Given the description of an element on the screen output the (x, y) to click on. 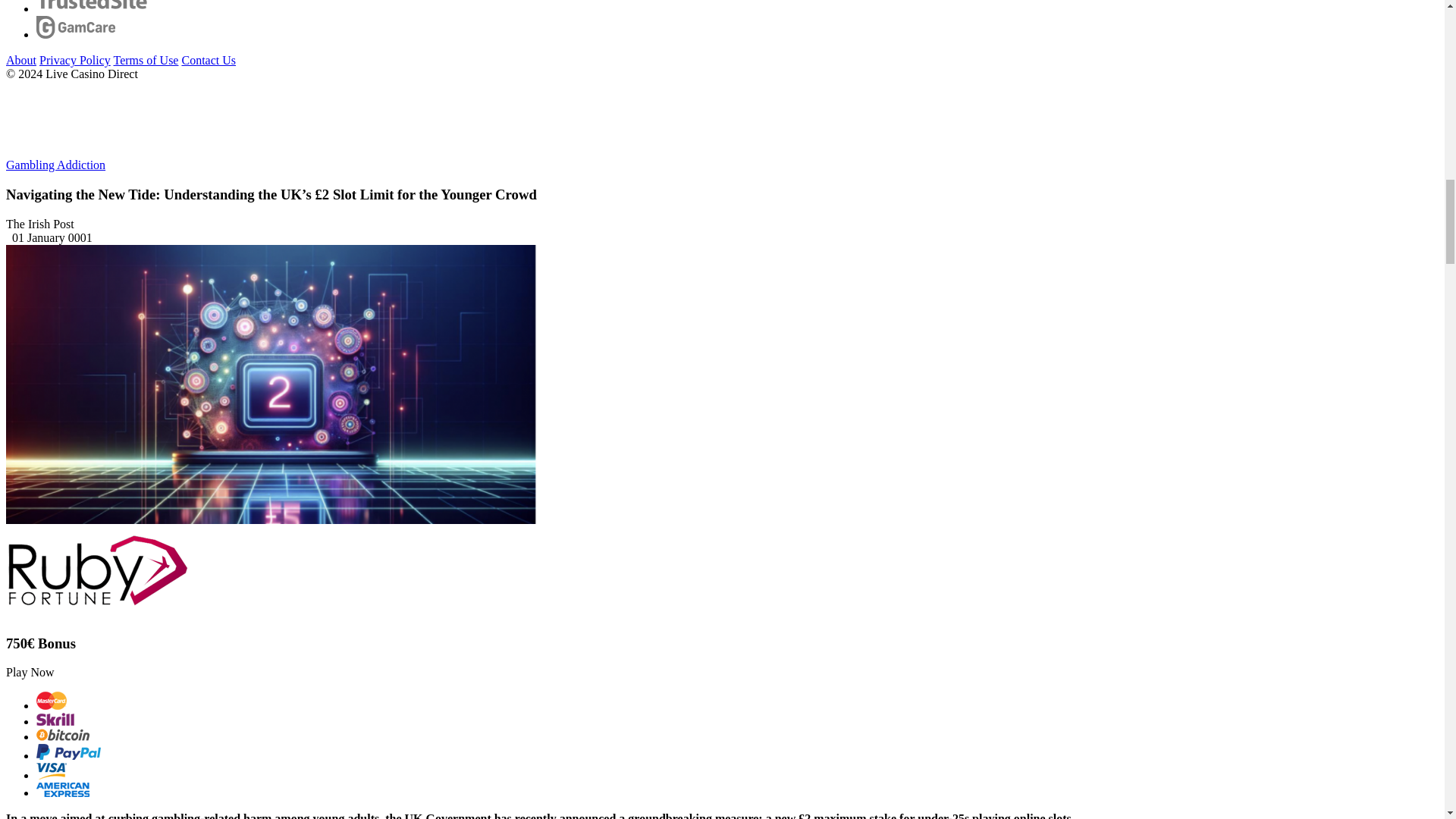
Ruby Fortune (96, 572)
